Given the description of an element on the screen output the (x, y) to click on. 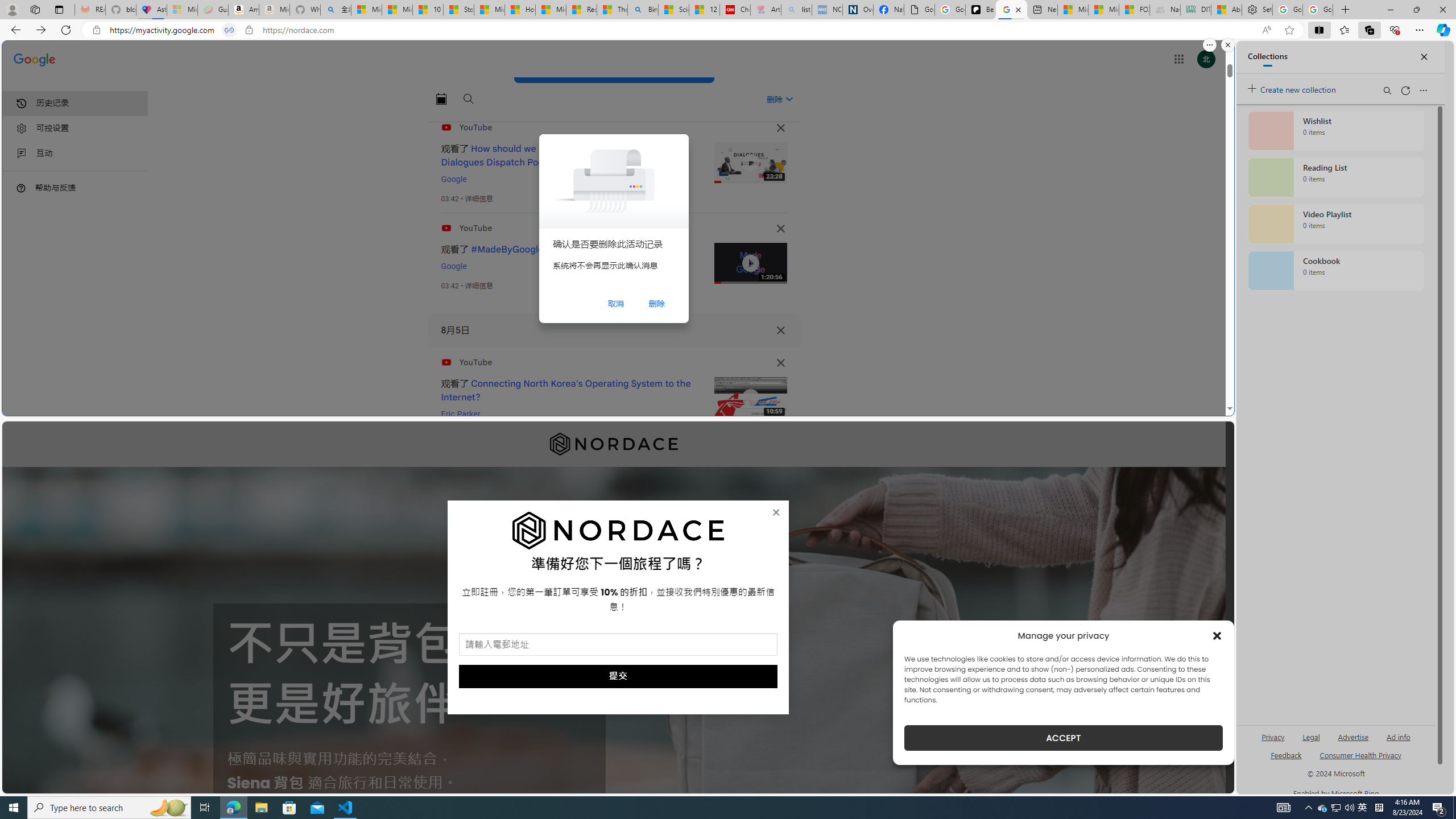
Tabs in split screen (228, 29)
AutomationID: genId96 (1285, 759)
